Given the description of an element on the screen output the (x, y) to click on. 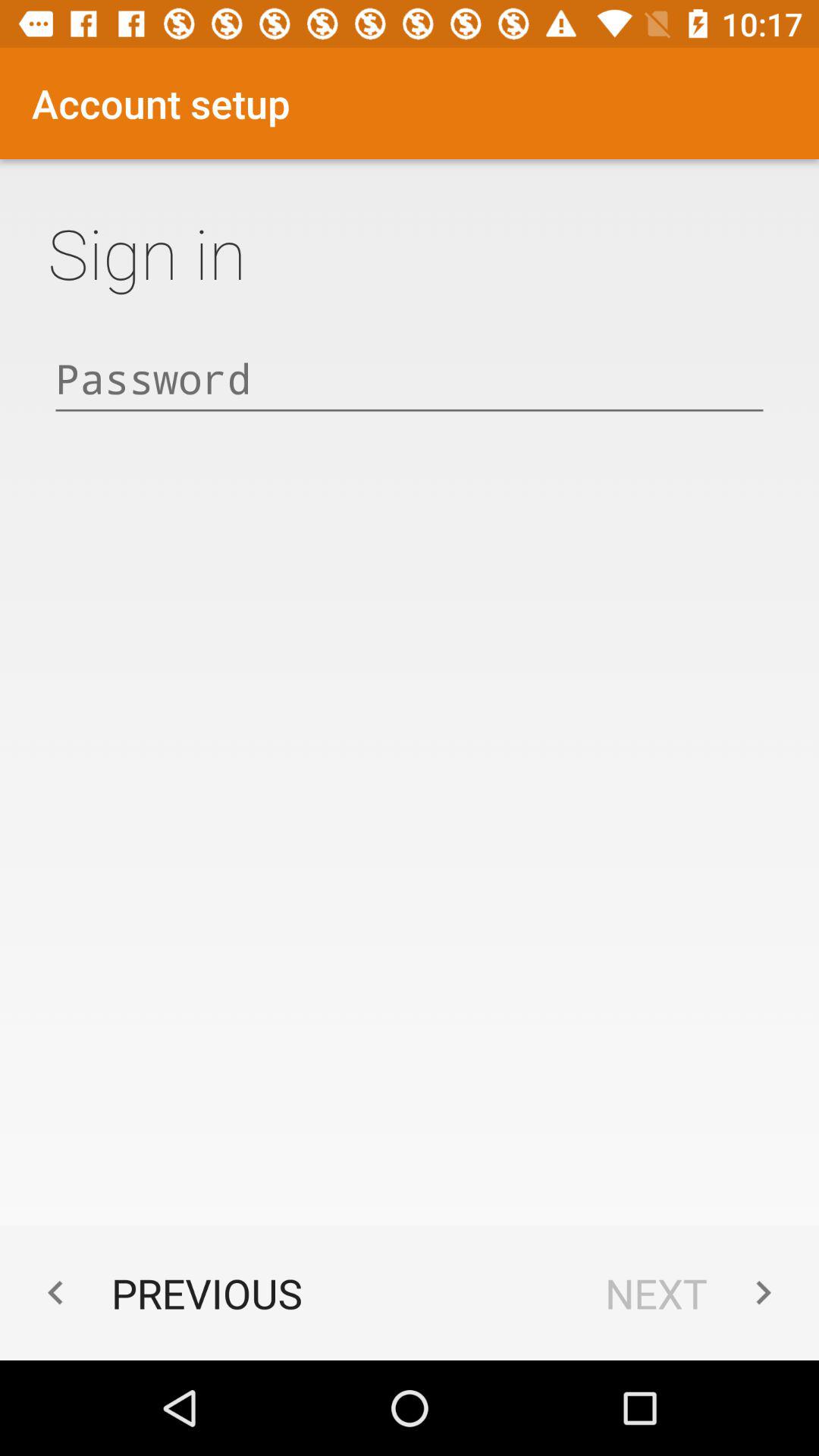
turn on the icon to the left of the next app (166, 1292)
